Given the description of an element on the screen output the (x, y) to click on. 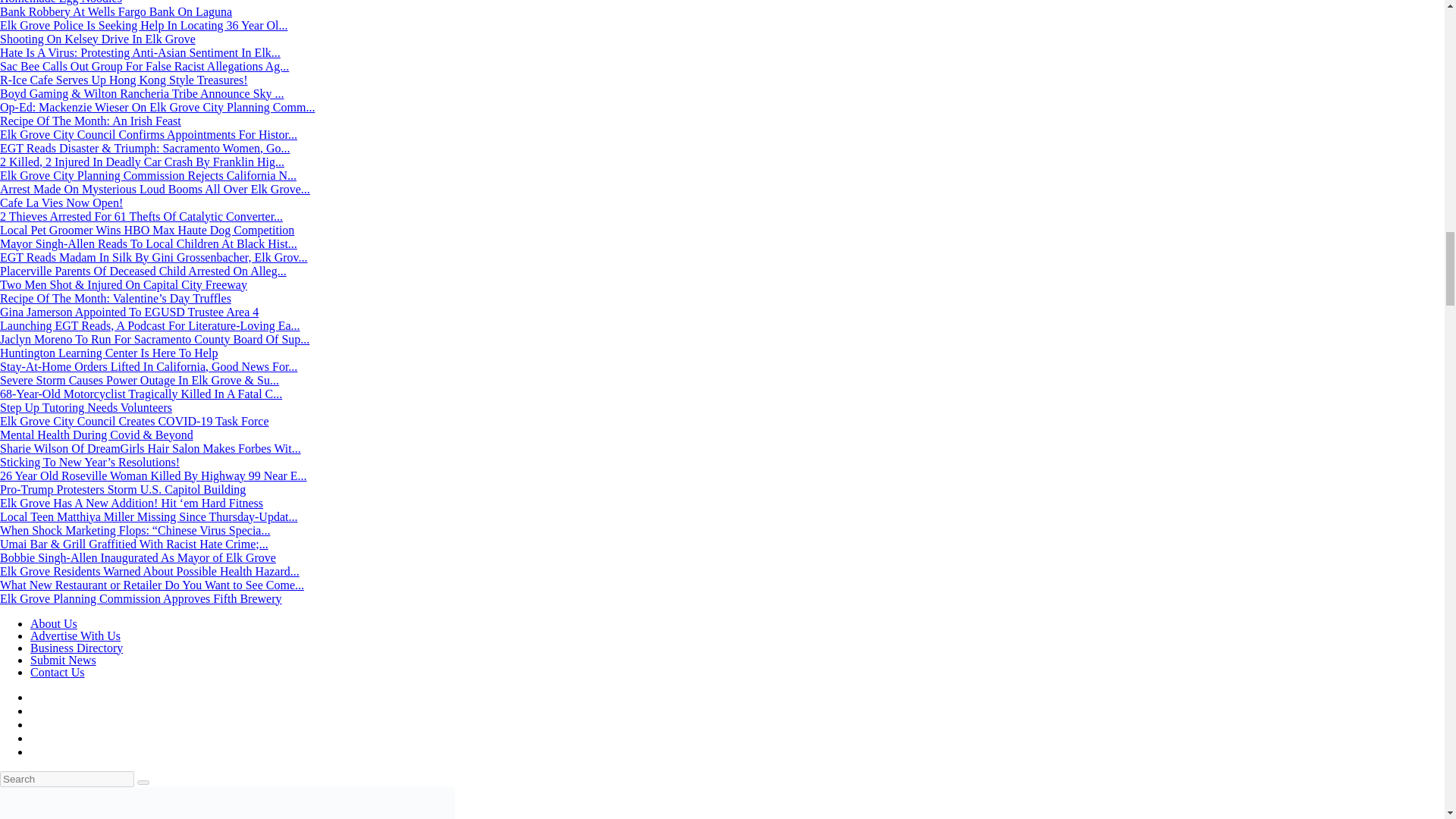
Search for: (66, 779)
